Given the description of an element on the screen output the (x, y) to click on. 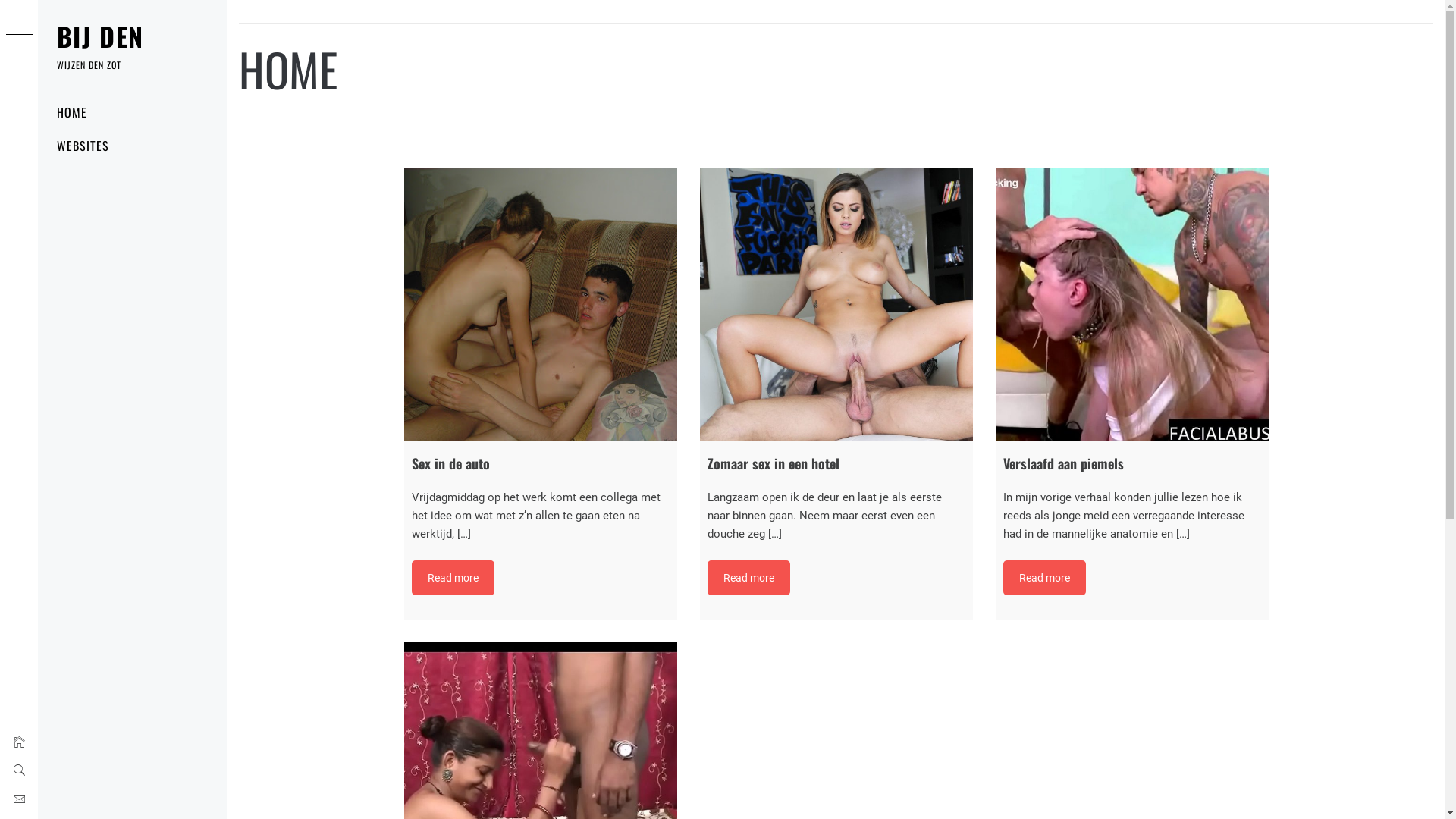
Read more Element type: text (452, 577)
BIJ DEN Element type: text (100, 35)
WEBSITES Element type: text (132, 145)
Zomaar sex in een hotel Element type: hover (835, 304)
Read more Element type: text (747, 577)
Read more Element type: text (1043, 577)
Search Element type: text (645, 37)
HOME Element type: text (132, 111)
Verslaafd aan piemels Element type: hover (1130, 304)
Sex in de auto Element type: hover (539, 304)
